Given the description of an element on the screen output the (x, y) to click on. 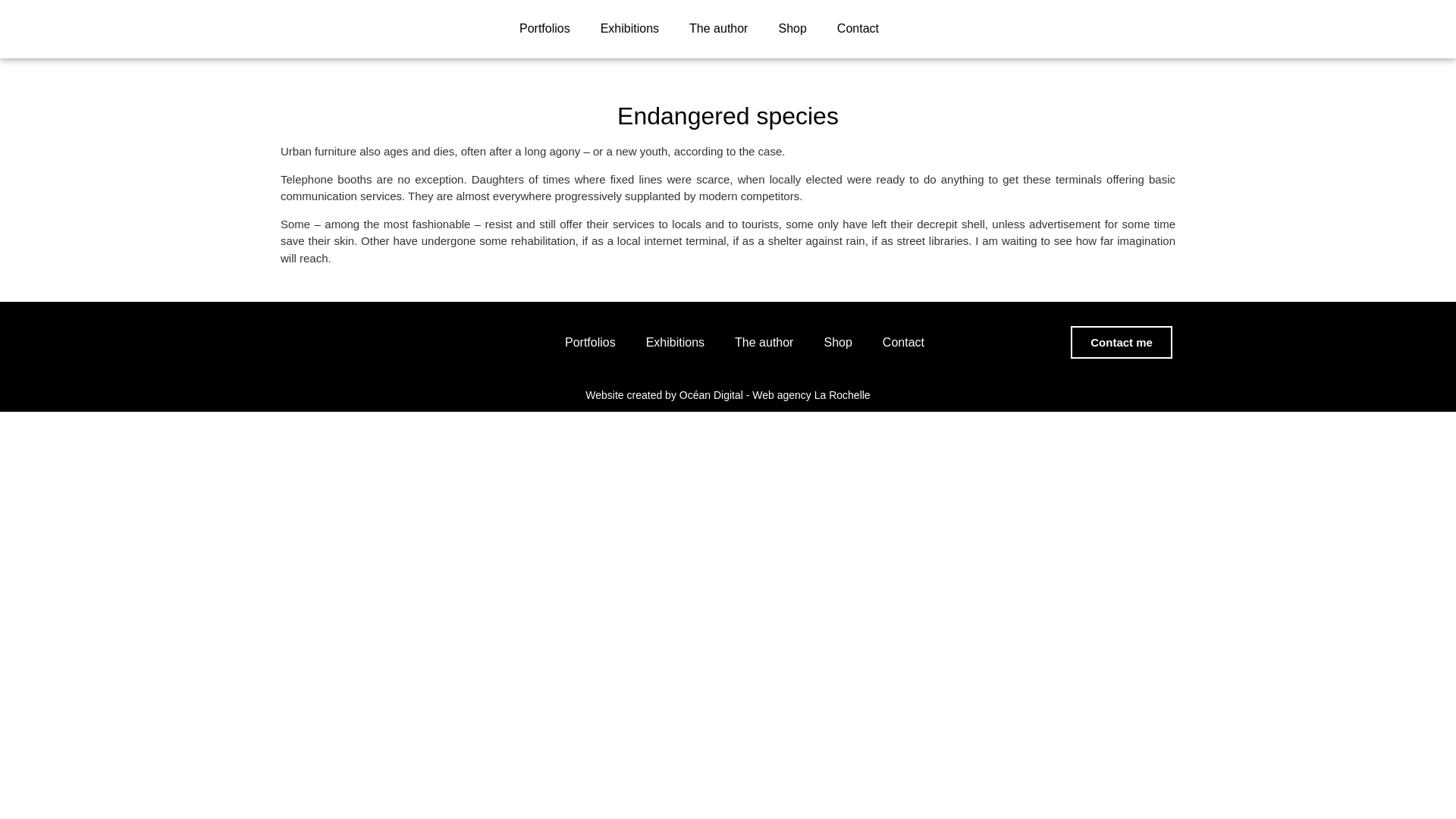
Contact (857, 28)
Exhibitions (629, 28)
The author (718, 28)
Shop (791, 28)
Portfolios (544, 28)
